Given the description of an element on the screen output the (x, y) to click on. 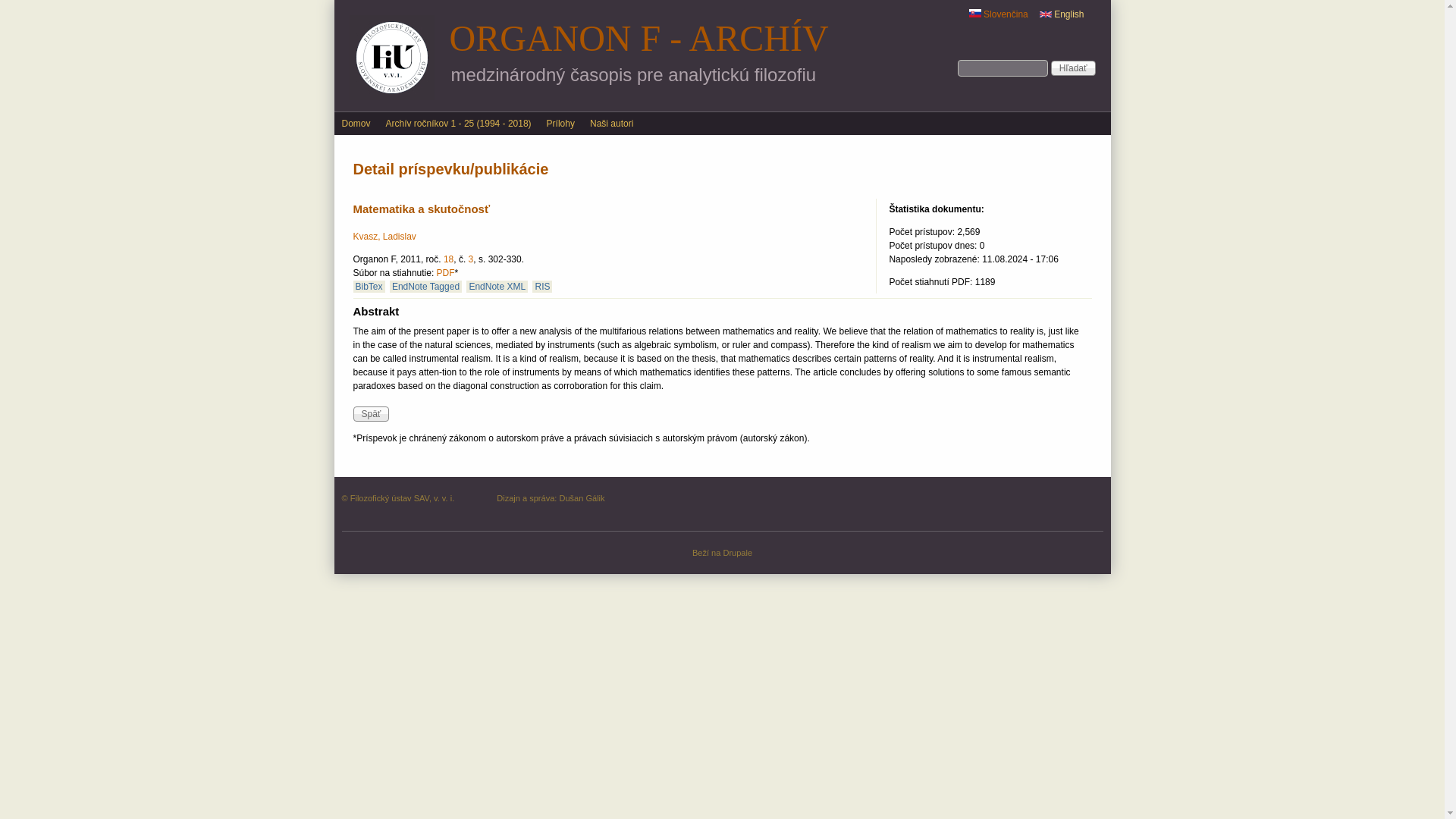
Domov (355, 123)
English (1061, 14)
BibTex (369, 286)
Kvasz, Ladislav (384, 235)
EndNote Tagged (425, 286)
Drupale (737, 552)
EndNote XML (496, 286)
English (1045, 14)
PDF (445, 272)
18 (448, 258)
